Given the description of an element on the screen output the (x, y) to click on. 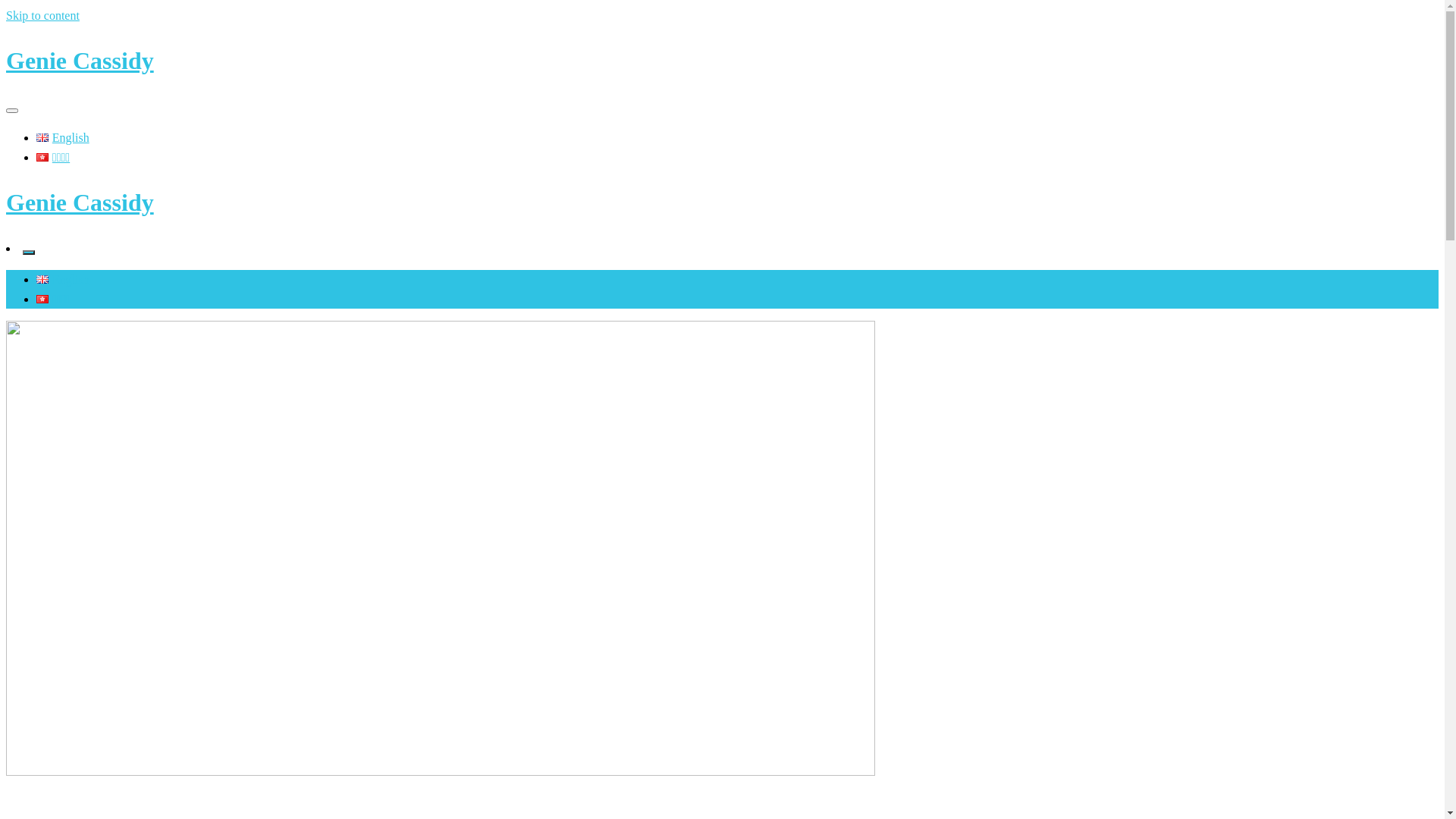
Skip to content Element type: text (42, 15)
Genie Cassidy Element type: text (79, 202)
English Element type: text (62, 279)
Homepage Element type: text (62, 803)
English Element type: text (62, 137)
Genie Cassidy Element type: text (79, 60)
